Given the description of an element on the screen output the (x, y) to click on. 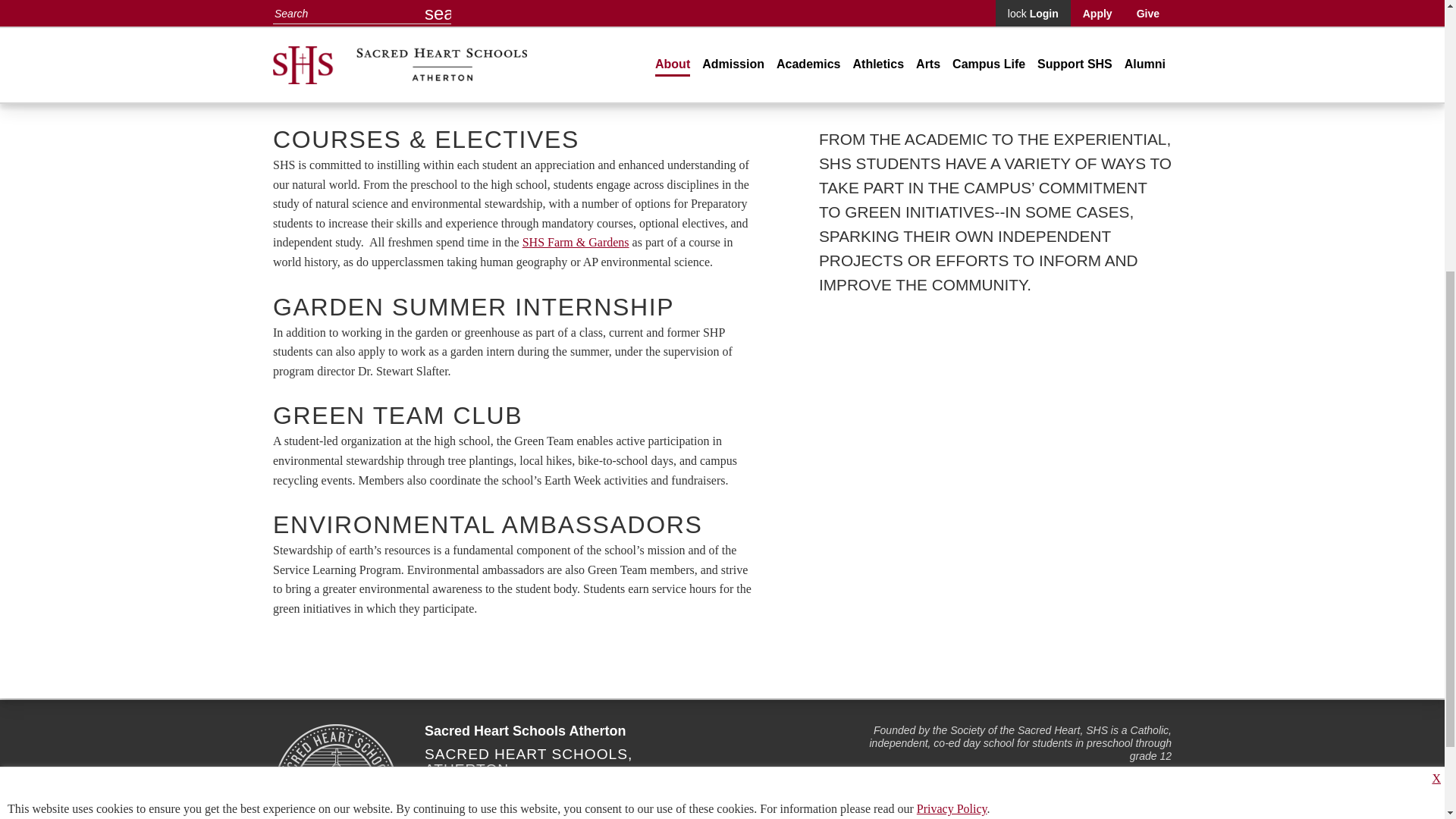
Sacred Heart Schools Atherton Privacy Policy (952, 358)
